Given the description of an element on the screen output the (x, y) to click on. 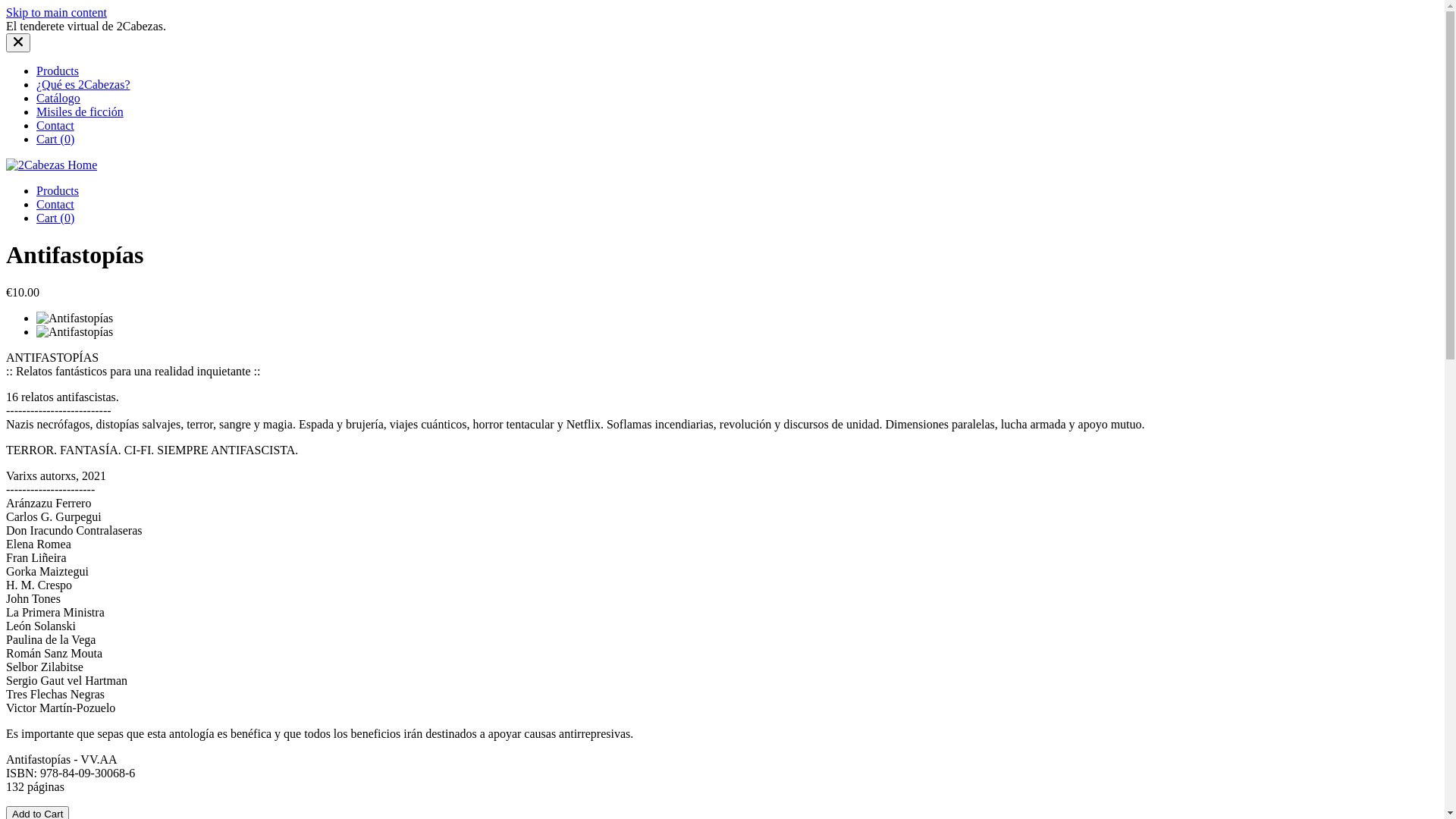
Skip to main content Element type: text (56, 12)
Products Element type: text (57, 190)
Close announcement message Element type: hover (18, 42)
Cart (0) Element type: text (55, 217)
Cart (0) Element type: text (55, 138)
Home Element type: hover (51, 164)
Contact Element type: text (55, 203)
Products Element type: text (57, 70)
Contact Element type: text (55, 125)
